Given the description of an element on the screen output the (x, y) to click on. 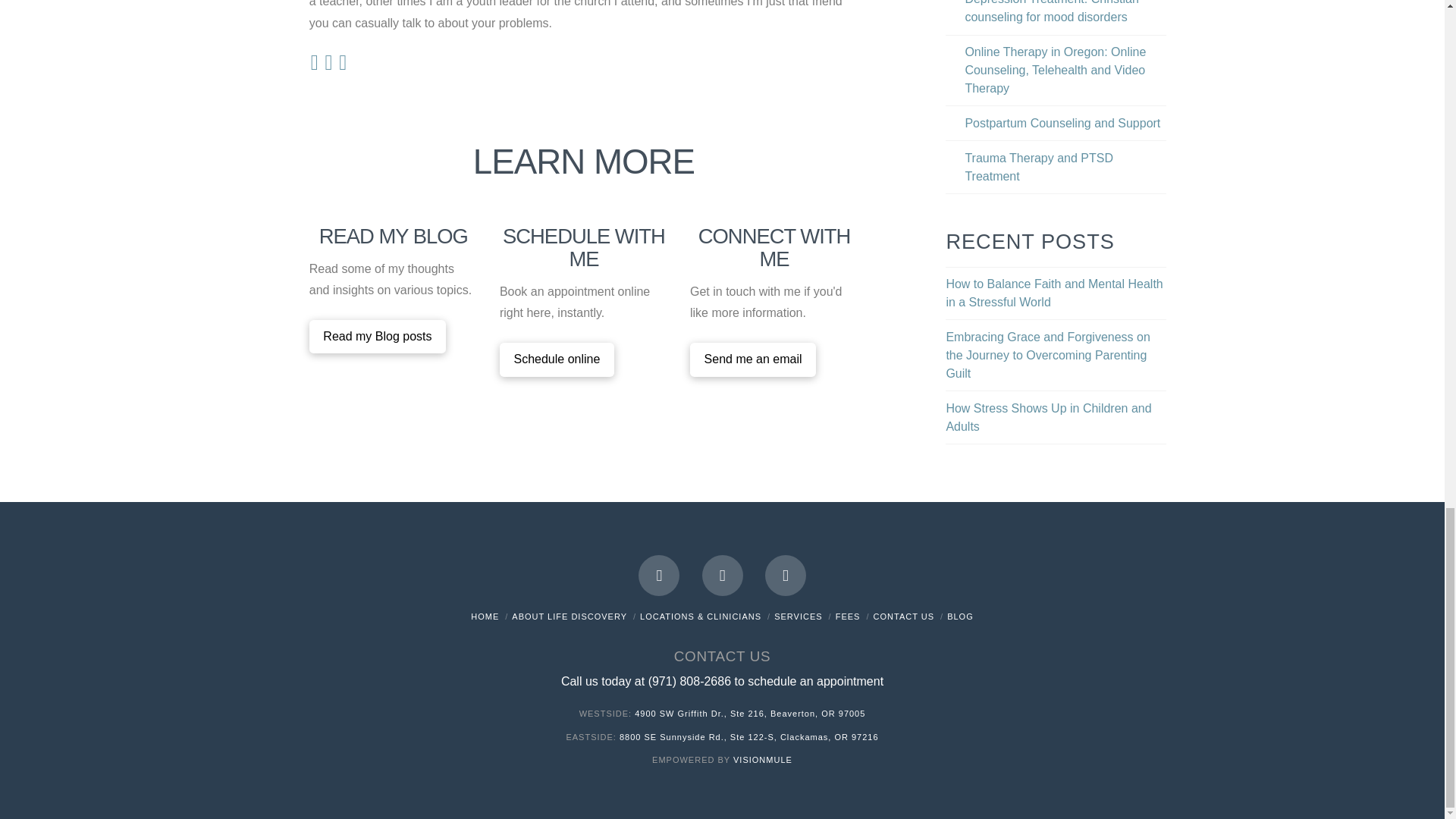
VisionMule Business Websites (762, 759)
Instagram (785, 575)
Facebook (659, 575)
Twitter (721, 575)
